Given the description of an element on the screen output the (x, y) to click on. 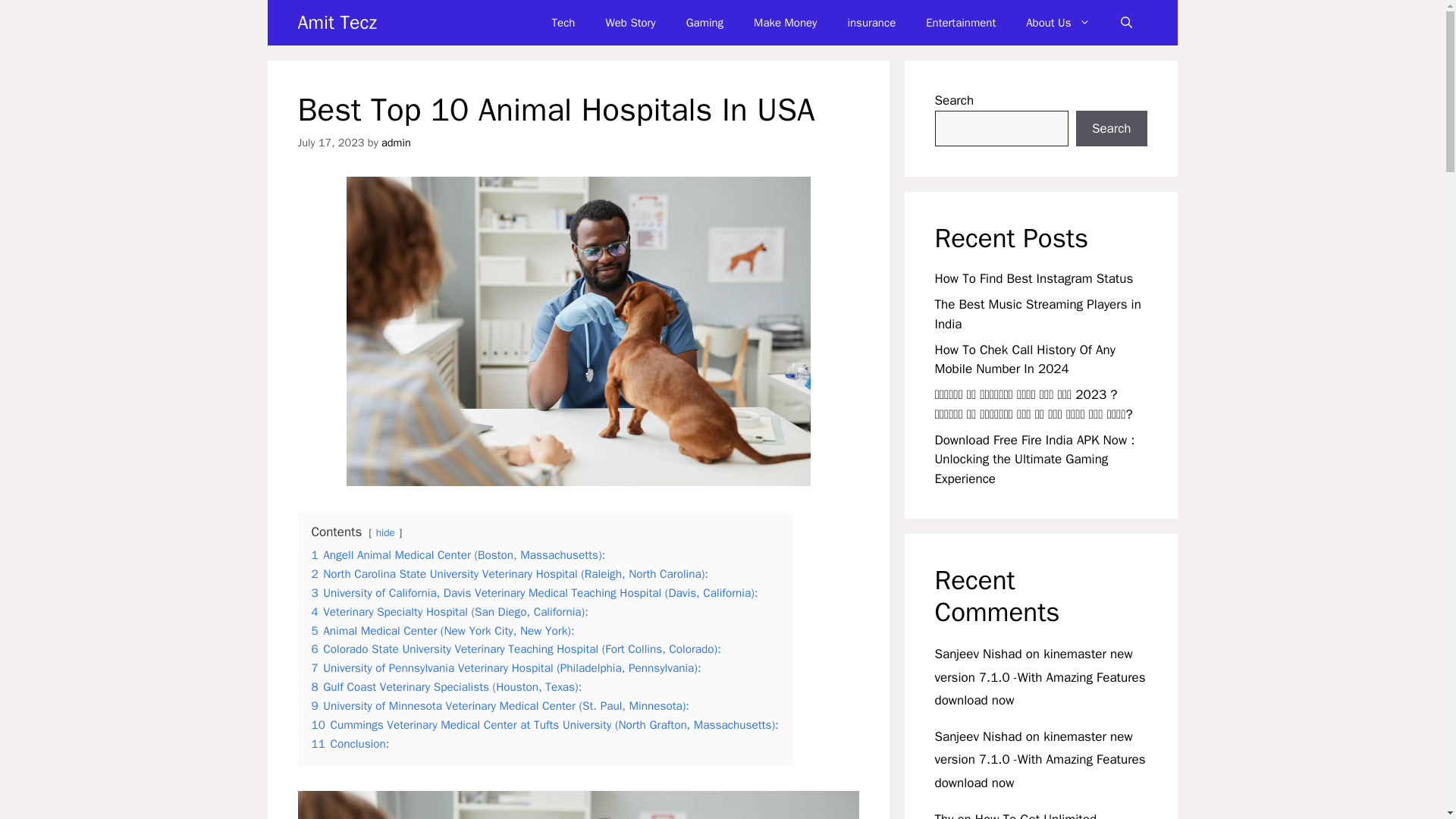
hide (384, 532)
The Best Music Streaming Players in India (1037, 314)
How To Chek Call History Of Any Mobile Number In 2024 (1024, 358)
How To Find Best Instagram Status (1033, 278)
insurance (871, 22)
Gaming (704, 22)
11 Conclusion: (349, 743)
About Us (1057, 22)
Search (1111, 128)
